Given the description of an element on the screen output the (x, y) to click on. 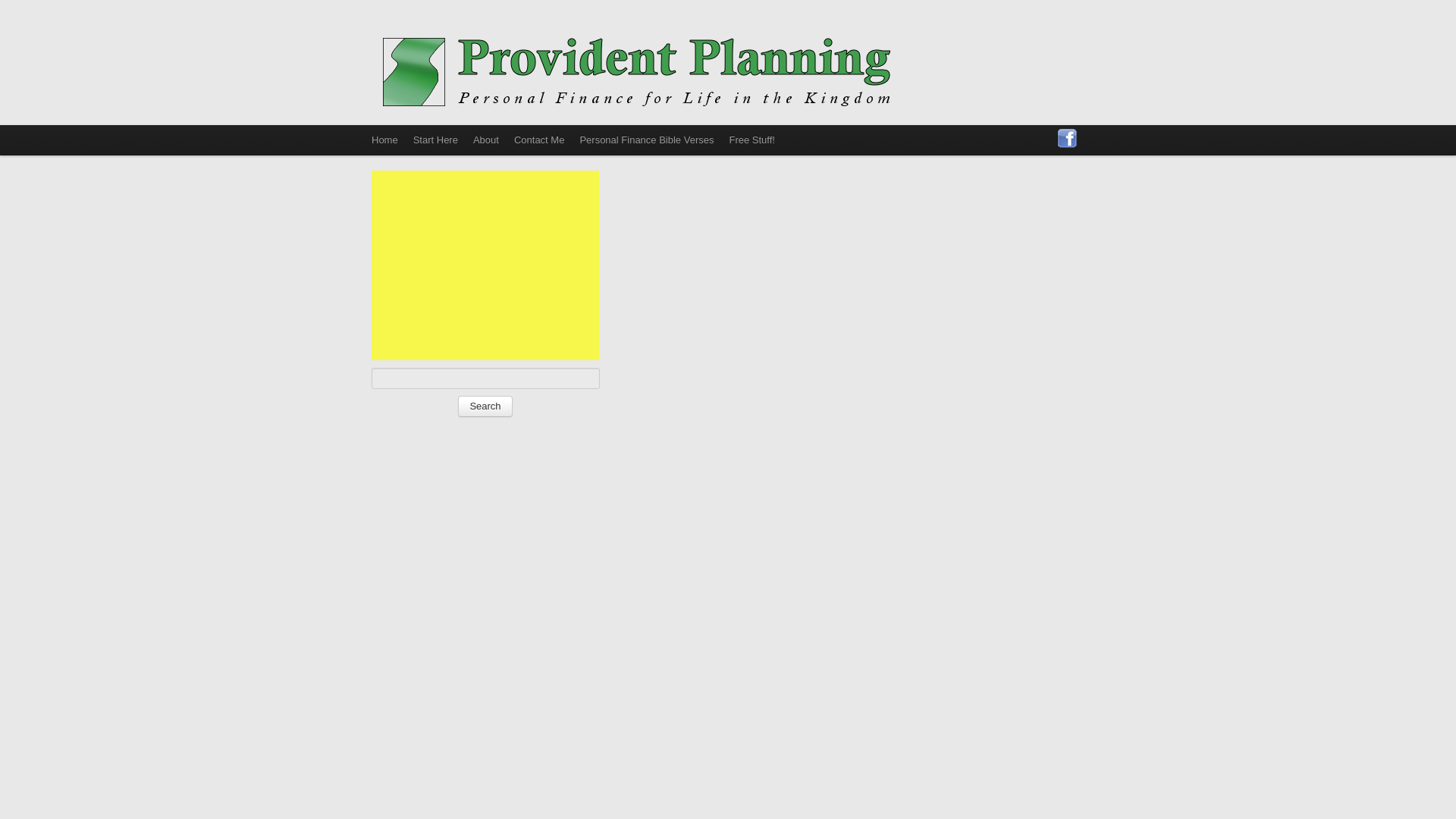
Start Here (435, 140)
Personal Finance Bible Verses (646, 140)
Contact Me (539, 140)
About (485, 140)
Home (385, 140)
Search (485, 405)
Provident Planning (636, 69)
Search (485, 405)
Free Stuff! (750, 140)
